Given the description of an element on the screen output the (x, y) to click on. 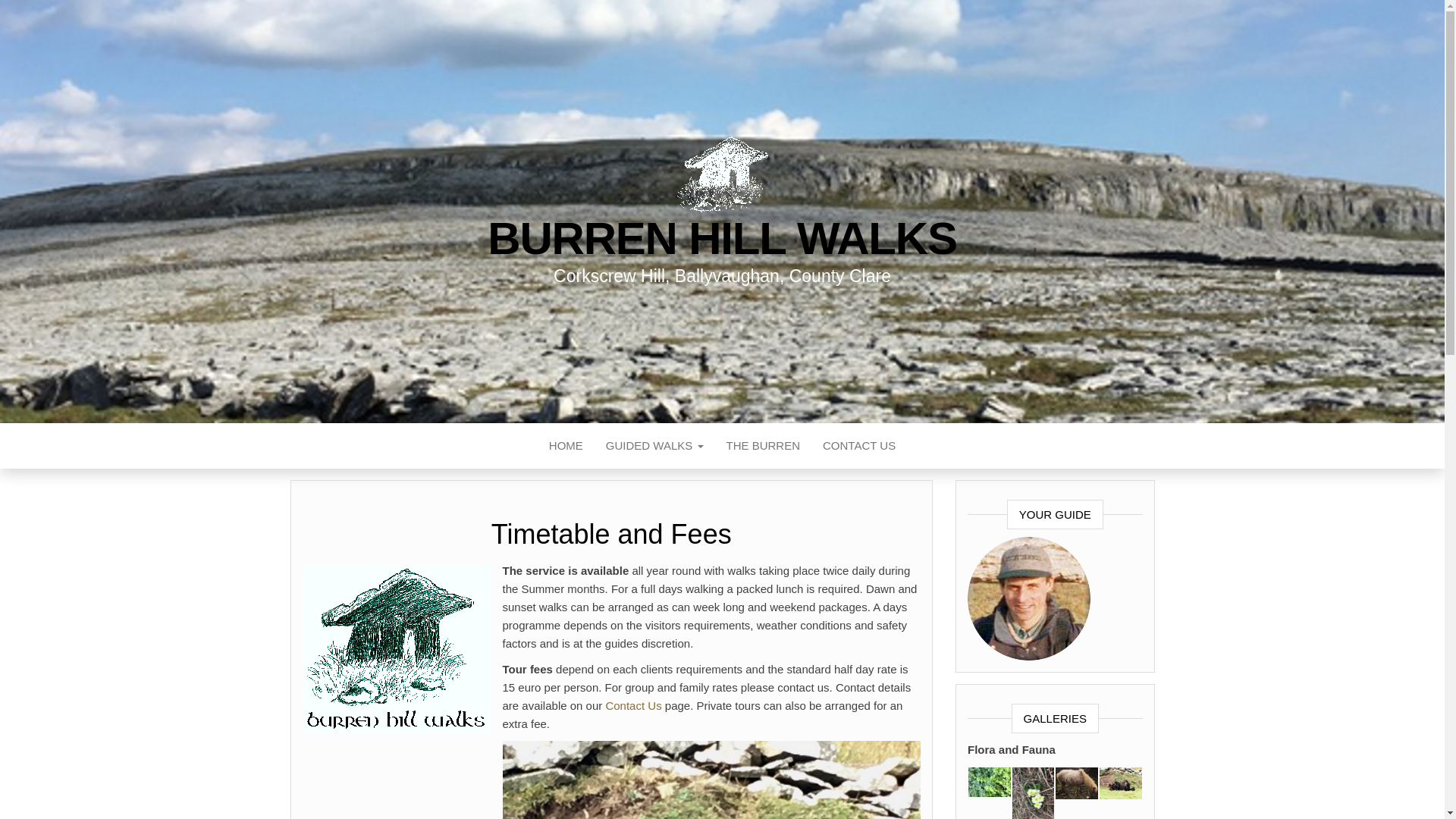
GUIDED WALKS (654, 445)
Guided Walks (654, 445)
Home (565, 445)
Contact Us (858, 445)
BURREN HILL WALKS (721, 237)
The Burren (762, 445)
Contact Us (633, 705)
CONTACT US (858, 445)
HOME (565, 445)
THE BURREN (762, 445)
